Given the description of an element on the screen output the (x, y) to click on. 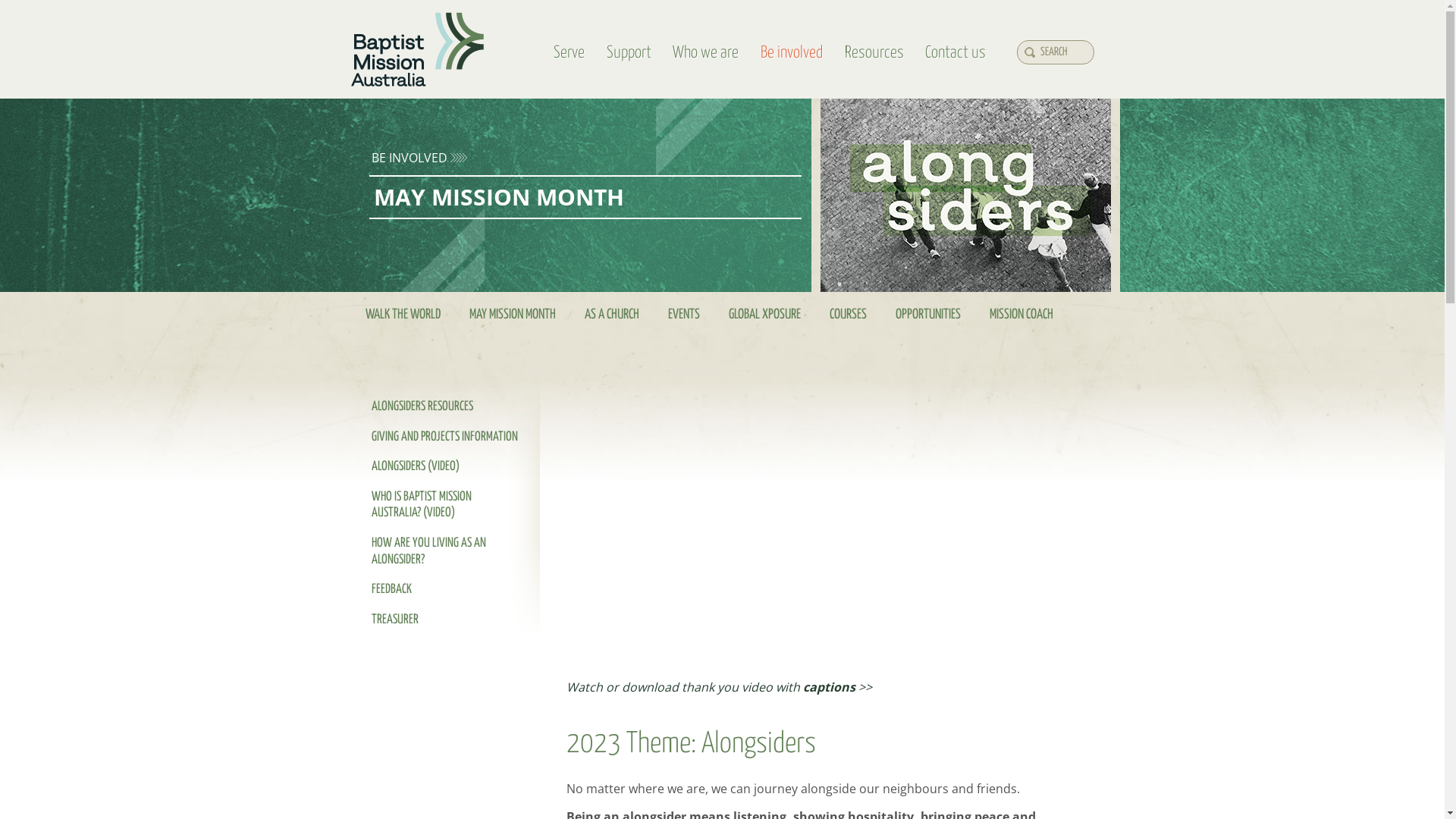
ALONGSIDERS (VIDEO) Element type: text (444, 466)
EVENTS Element type: text (683, 314)
MAY MISSION MONTH Element type: text (512, 314)
Resources Element type: text (873, 52)
Who we are Element type: text (705, 52)
WALK THE WORLD Element type: text (402, 314)
AS A CHURCH Element type: text (611, 314)
Be involved Element type: text (792, 52)
Serve Element type: text (569, 52)
TREASURER Element type: text (444, 620)
OPPORTUNITIES Element type: text (928, 314)
GIVING AND PROJECTS INFORMATION Element type: text (444, 437)
Contact us Element type: text (955, 52)
Watch or download thank you video with captions >> Element type: text (719, 686)
WHO IS BAPTIST MISSION AUSTRALIA? (VIDEO) Element type: text (444, 505)
GLOBAL XPOSURE Element type: text (764, 314)
Support Element type: text (629, 52)
MISSION COACH Element type: text (1021, 314)
COURSES Element type: text (847, 314)
ALONGSIDERS RESOURCES Element type: text (444, 407)
HOW ARE YOU LIVING AS AN ALONGSIDER? Element type: text (444, 551)
FEEDBACK Element type: text (444, 589)
